Given the description of an element on the screen output the (x, y) to click on. 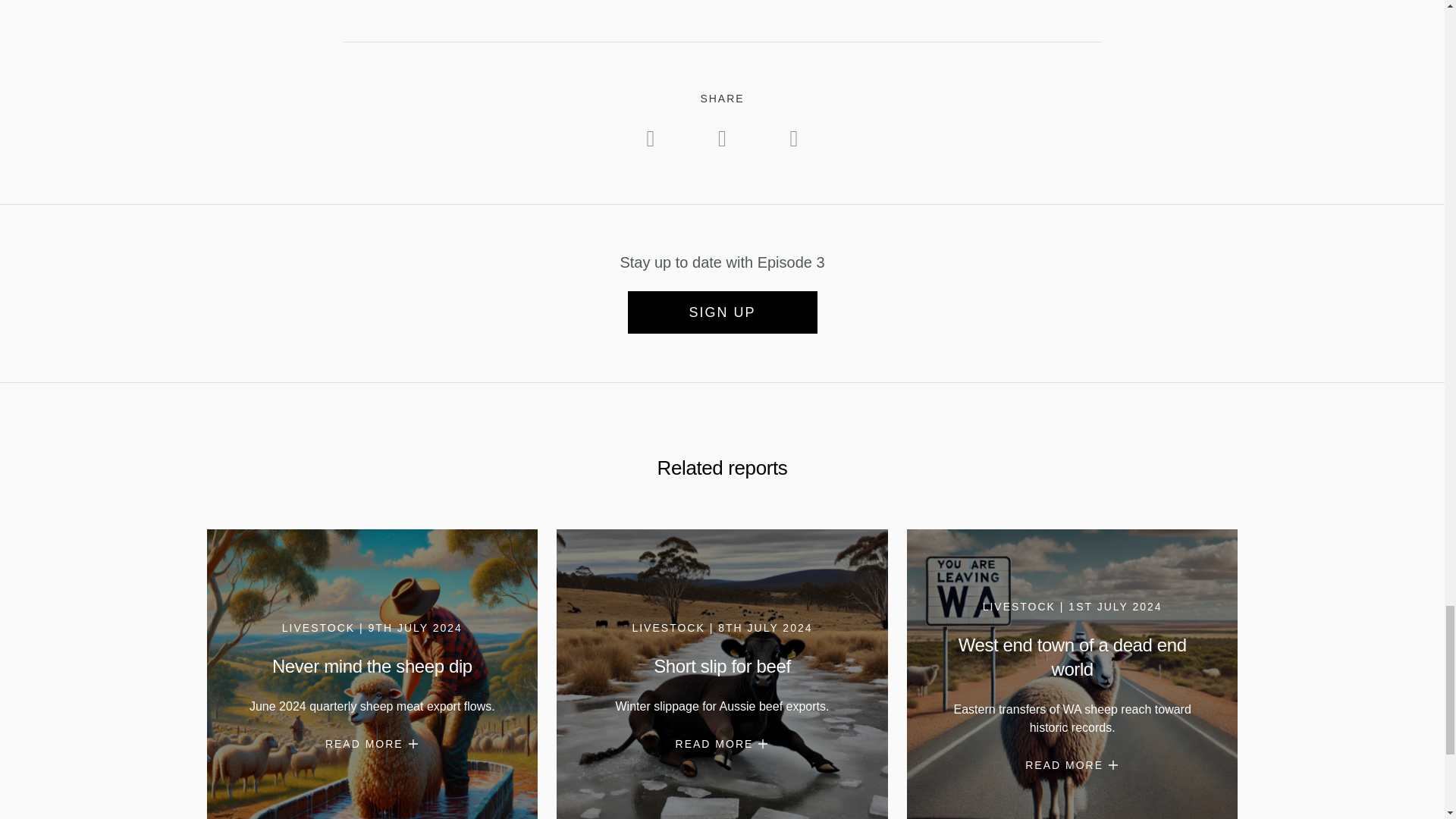
read more of West end town of a dead end world (1072, 765)
read more of Never mind the sheep dip (371, 743)
read more of Short slip for beef (722, 743)
